Given the description of an element on the screen output the (x, y) to click on. 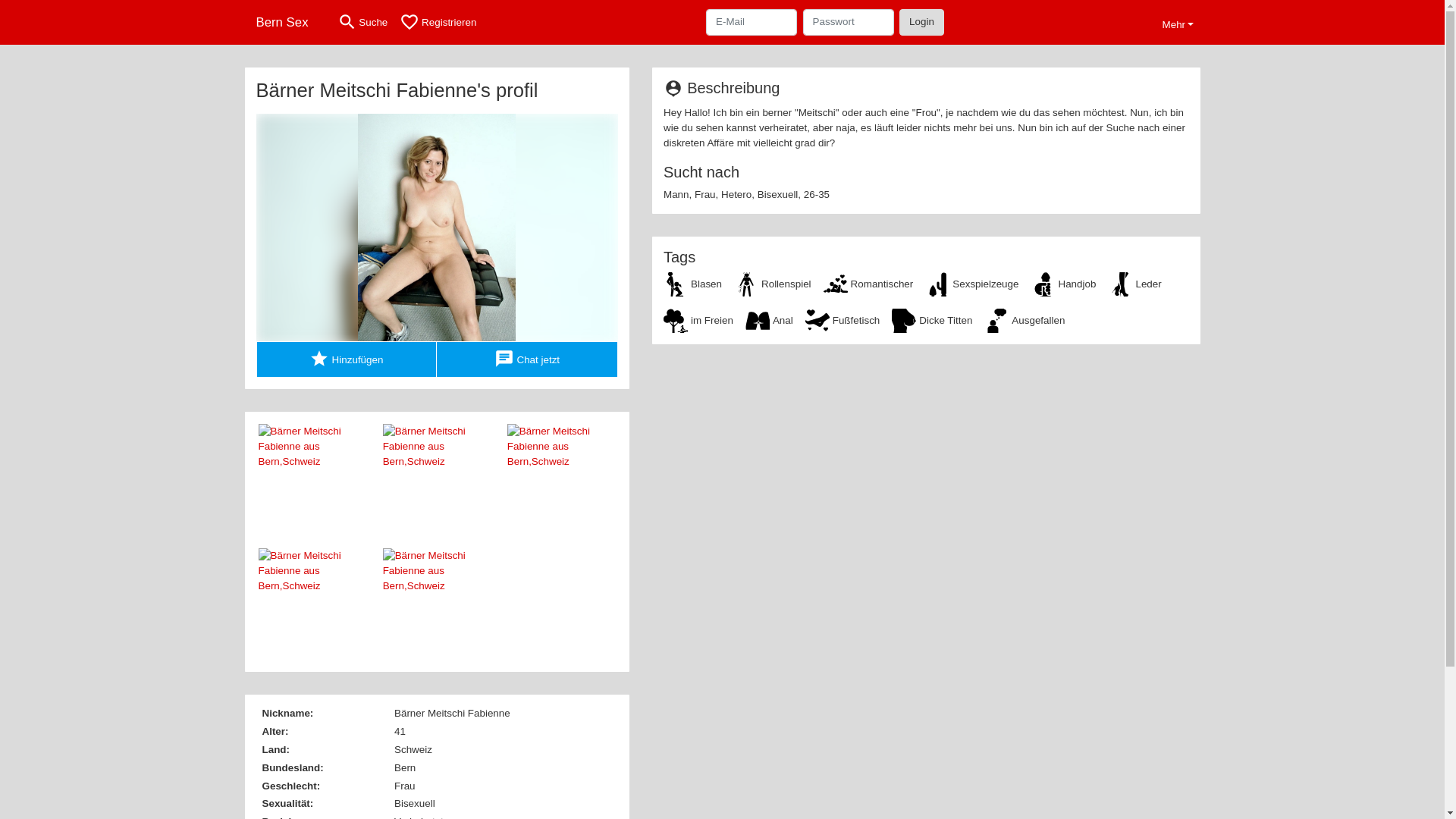
Bern Sex Element type: text (287, 22)
Login Element type: text (921, 21)
chat Chat jetzt Element type: text (527, 359)
favorite_border
Registrieren Element type: text (437, 22)
Mehr Element type: text (1178, 22)
search
Suche Element type: text (362, 22)
